Given the description of an element on the screen output the (x, y) to click on. 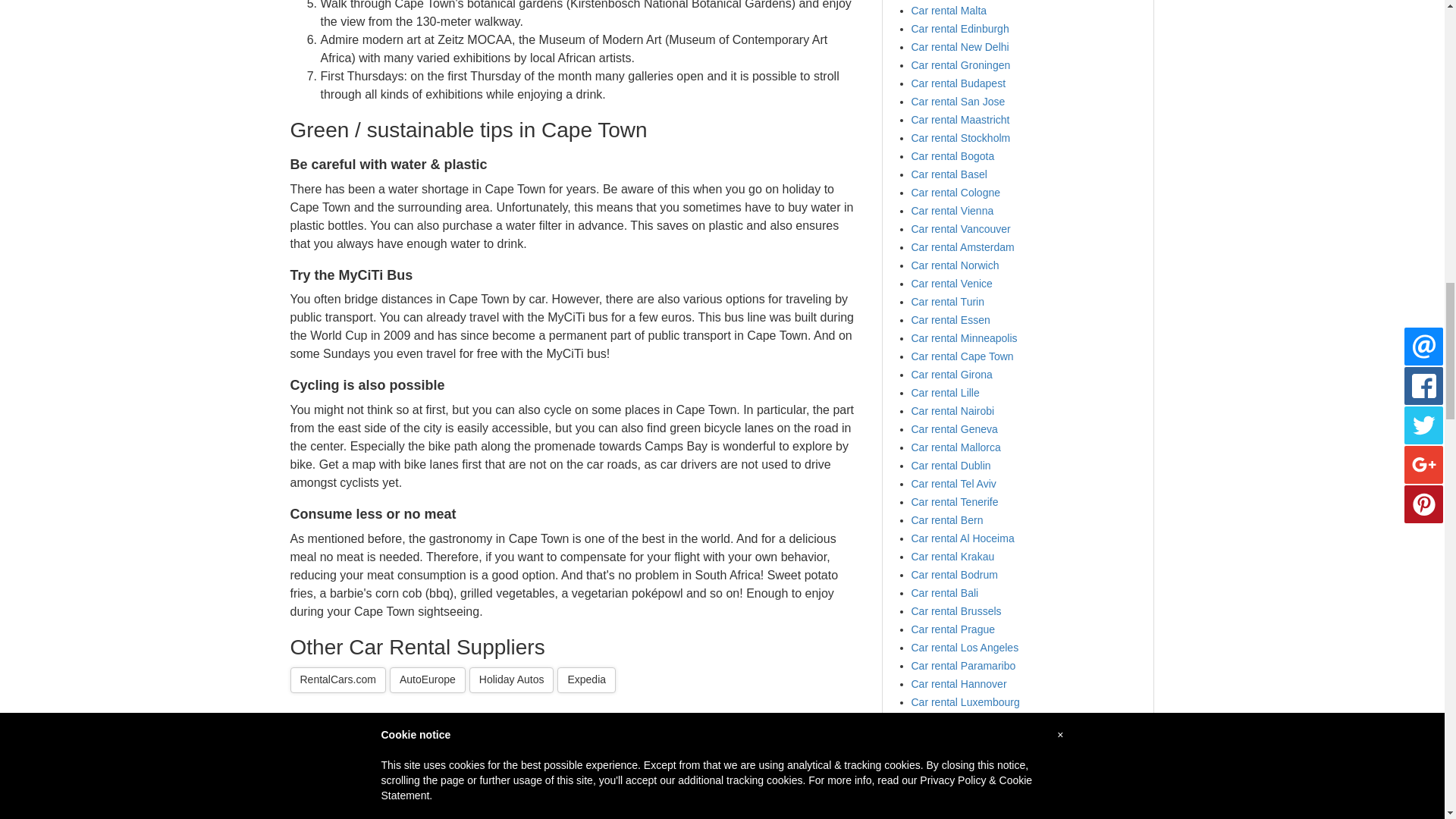
Holiday Autos (511, 679)
Expedia (586, 679)
RentalCars.com (337, 679)
RentalCars.com Car rental (337, 679)
AutoEurope (427, 679)
Holiday Autos Car rental (511, 679)
Expedia Car rental (586, 679)
Auto Europe Car rental (427, 679)
